Given the description of an element on the screen output the (x, y) to click on. 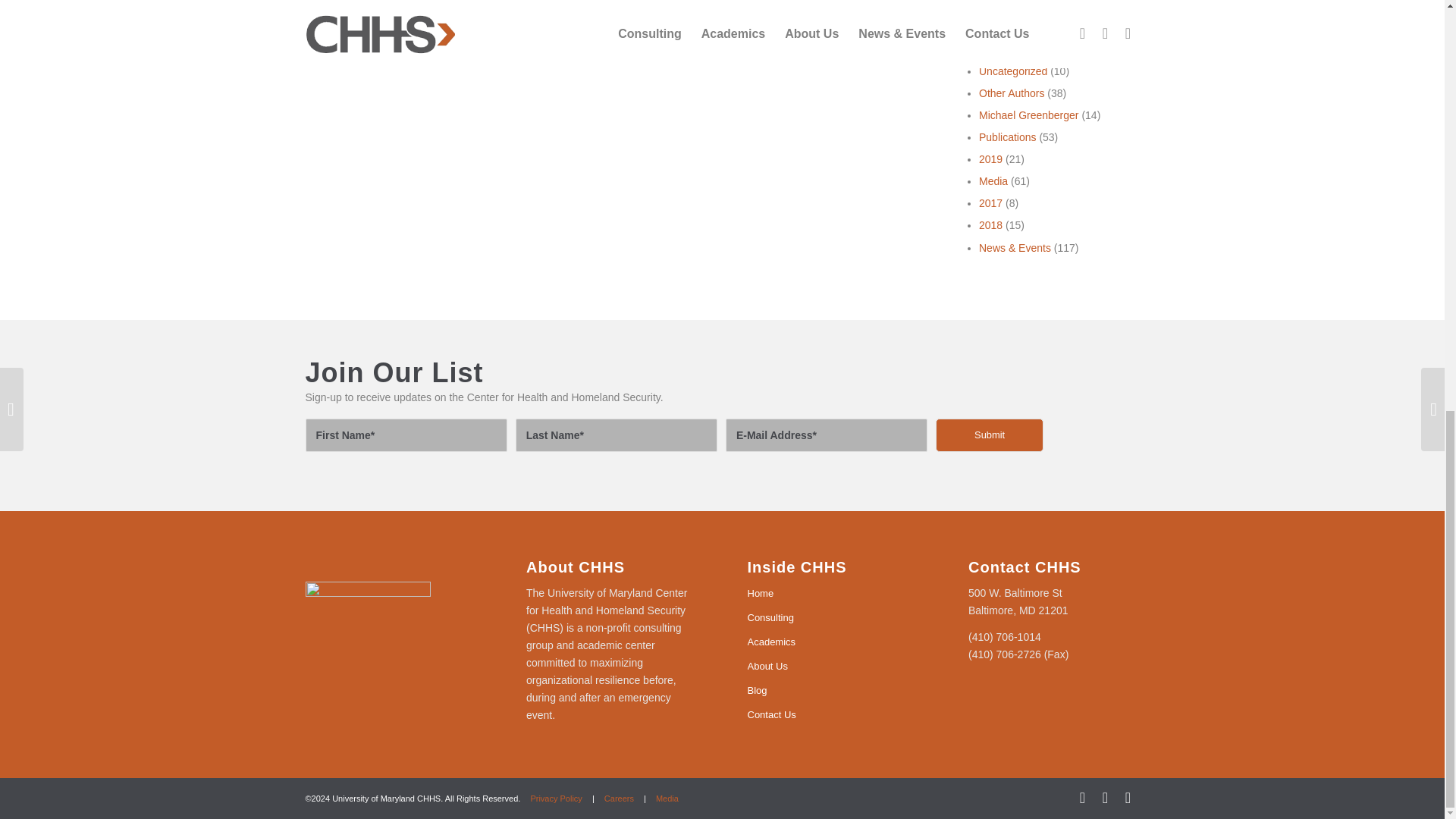
Facebook (1081, 797)
Twitter (1104, 797)
Submit (989, 435)
Youtube (1127, 797)
